Given the description of an element on the screen output the (x, y) to click on. 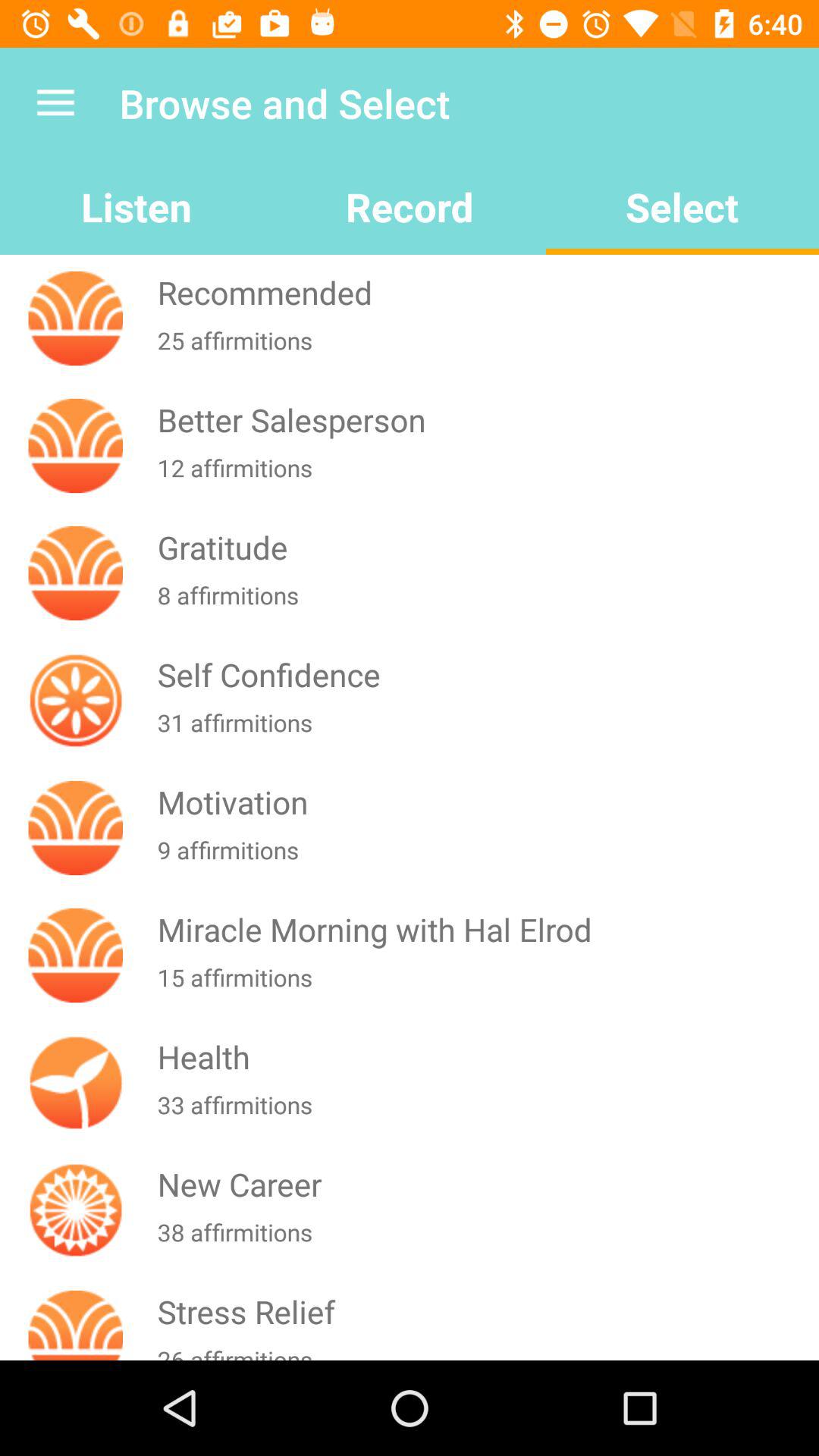
turn on the icon below 12 affirmitions item (484, 546)
